Given the description of an element on the screen output the (x, y) to click on. 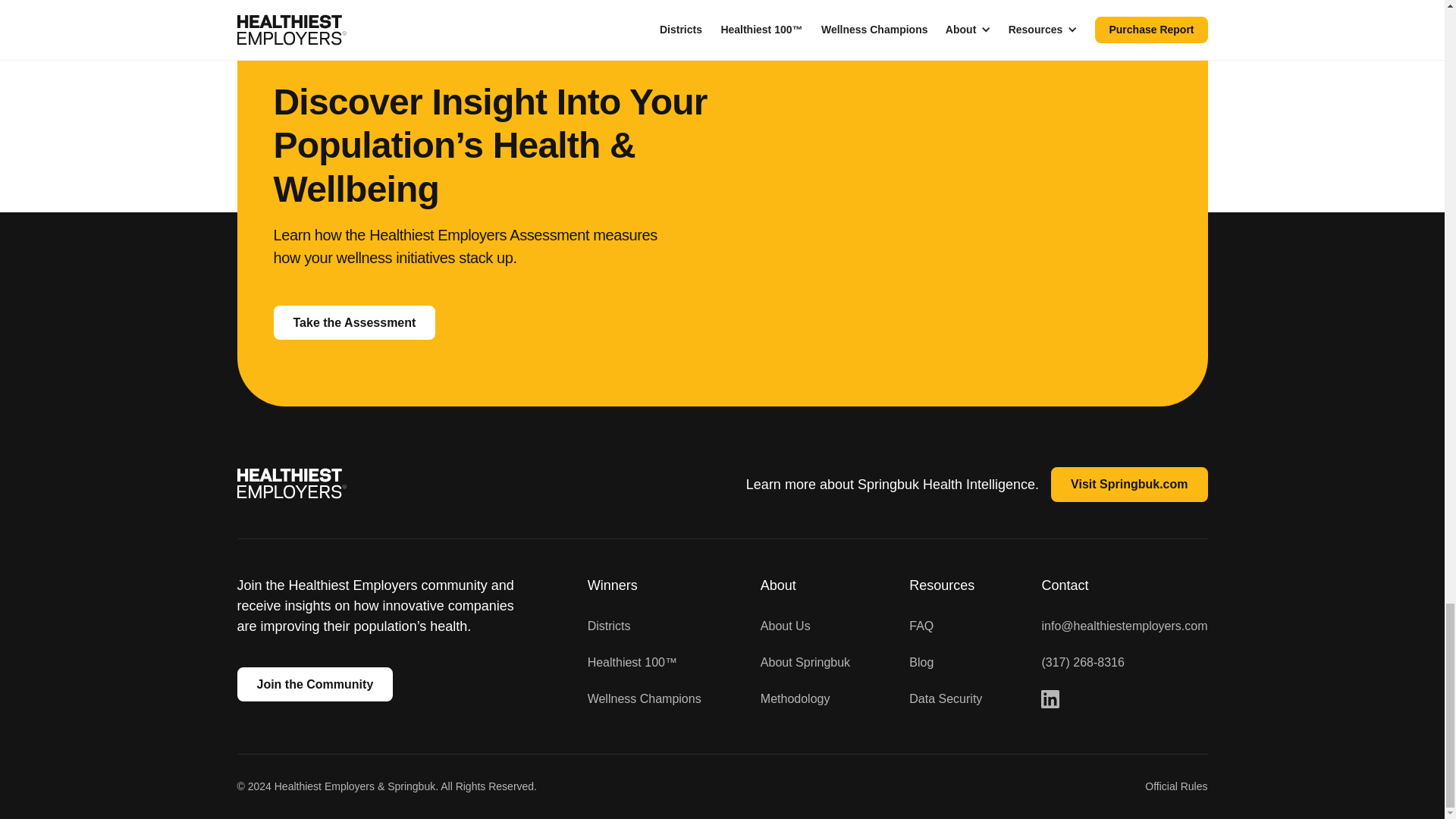
Districts (609, 626)
Wellness Champions (644, 698)
Join the Community (314, 684)
LinkedIn icon (1050, 699)
Take the Assessment (354, 322)
Visit Springbuk.com (1129, 484)
Healthiest Employers (290, 484)
Methodology (794, 698)
About Us (785, 626)
Data Security (944, 698)
About Springbuk (805, 662)
Official Rules (1175, 786)
